Given the description of an element on the screen output the (x, y) to click on. 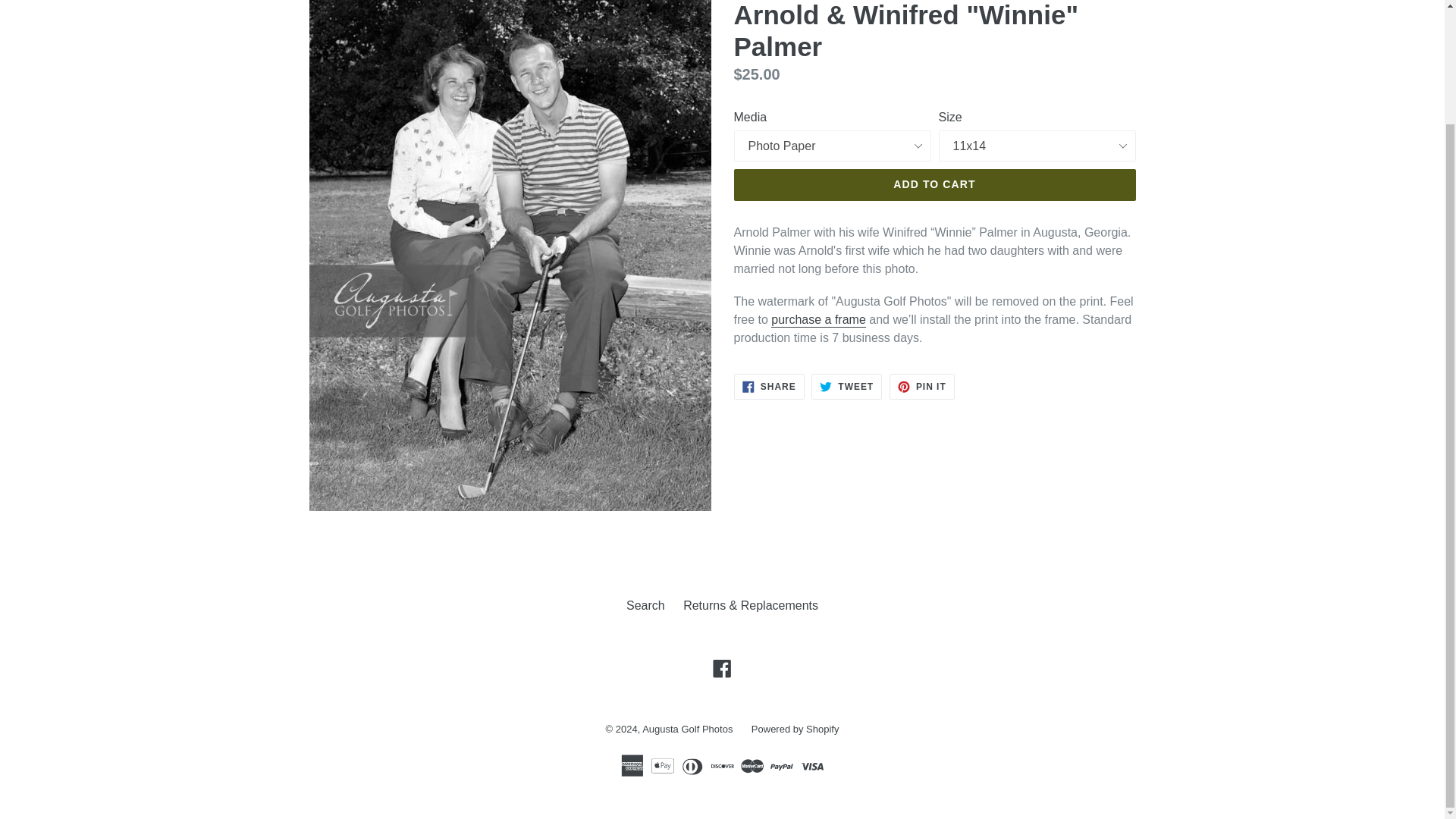
Augusta Golf Photos on Facebook (721, 668)
Tweet on Twitter (769, 386)
Augusta Golf Photos (846, 386)
purchase a frame (687, 728)
Pin on Pinterest (818, 319)
Share on Facebook (922, 386)
Search (769, 386)
ADD TO CART (645, 604)
Powered by Shopify (934, 184)
Facebook (846, 386)
